Given the description of an element on the screen output the (x, y) to click on. 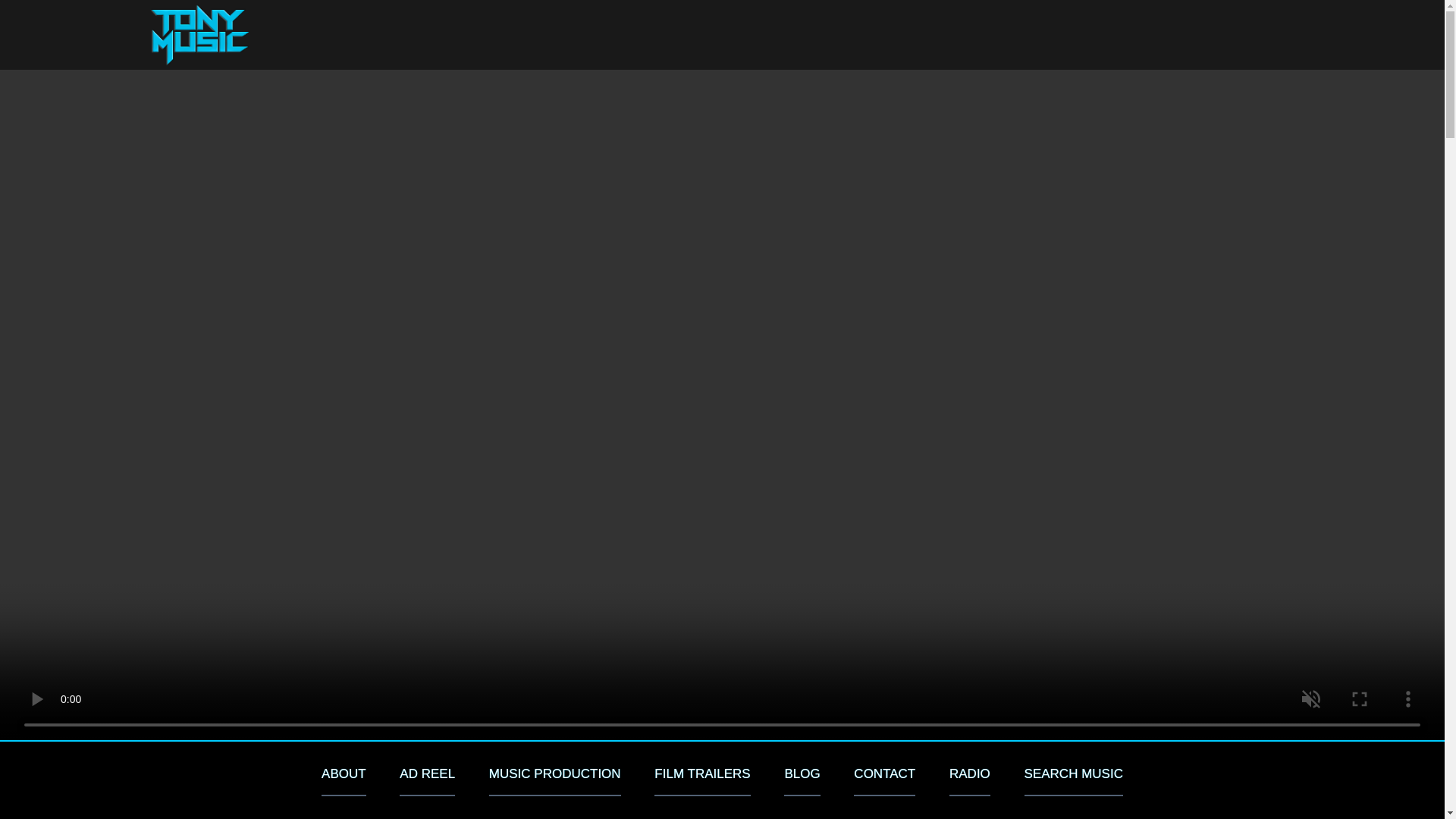
ABOUT (343, 780)
SEARCH MUSIC (1073, 780)
CONTACT (884, 780)
BLOG (801, 780)
MUSIC PRODUCTION (555, 780)
Mute (1421, 711)
RADIO (969, 780)
FILM TRAILERS (701, 780)
AD REEL (426, 780)
